Given the description of an element on the screen output the (x, y) to click on. 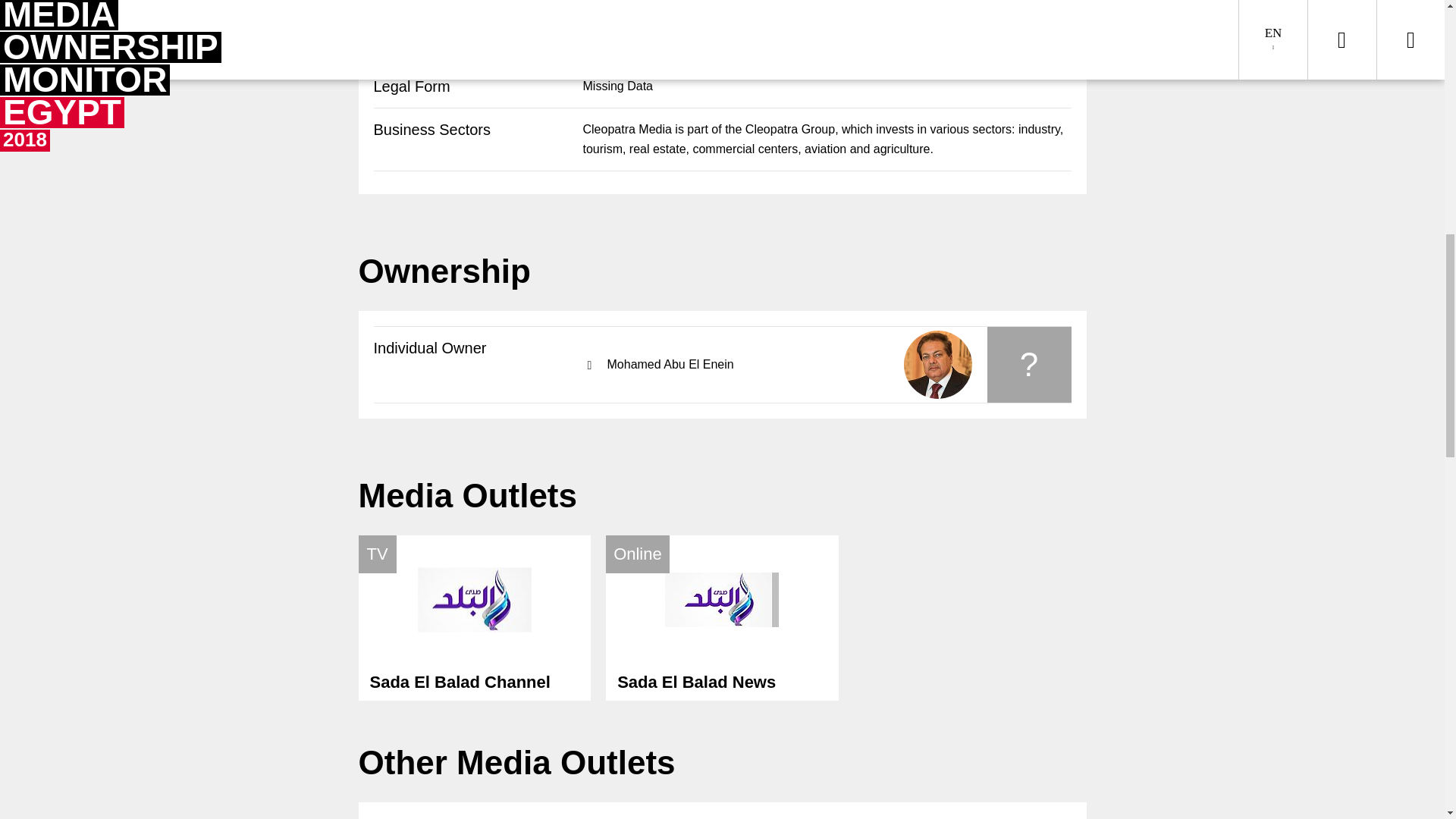
Mohamed Abu El Enein (474, 618)
